Given the description of an element on the screen output the (x, y) to click on. 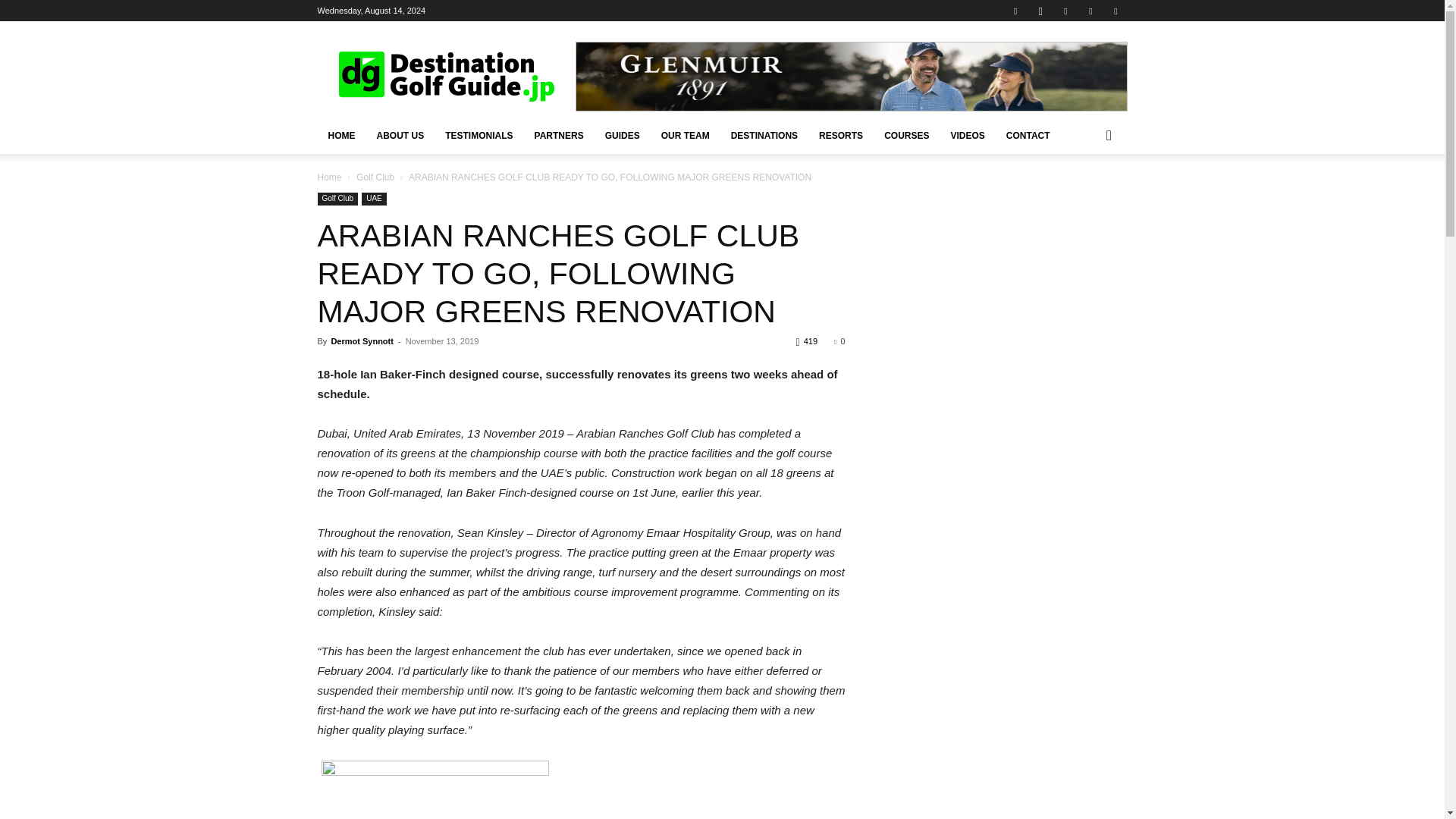
View all posts in Golf Club (375, 176)
CONTACT (1028, 135)
Twitter (1090, 10)
GUIDES (622, 135)
ABOUT US (399, 135)
DESTINATIONS (764, 135)
COURSES (906, 135)
HOME (341, 135)
VIDEOS (966, 135)
OUR TEAM (685, 135)
